Given the description of an element on the screen output the (x, y) to click on. 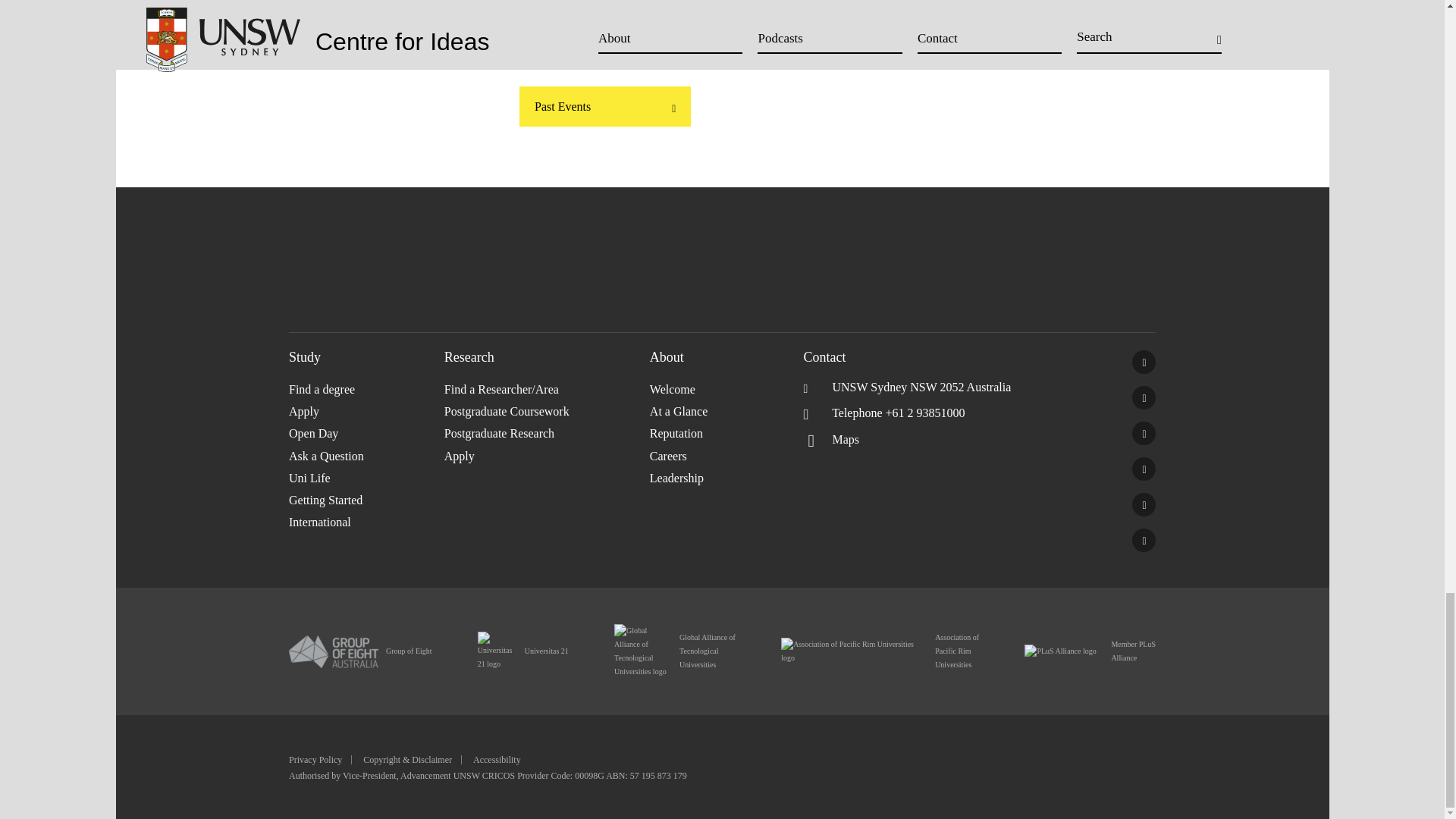
Twitter (1144, 397)
Youtube (1144, 468)
Instagram (1144, 504)
UNSW Sydney (1144, 540)
Past Events (604, 106)
Facebook (1144, 361)
Uni Life (366, 477)
Getting Started (366, 499)
Find a degree (366, 389)
Open Day (366, 433)
